Given the description of an element on the screen output the (x, y) to click on. 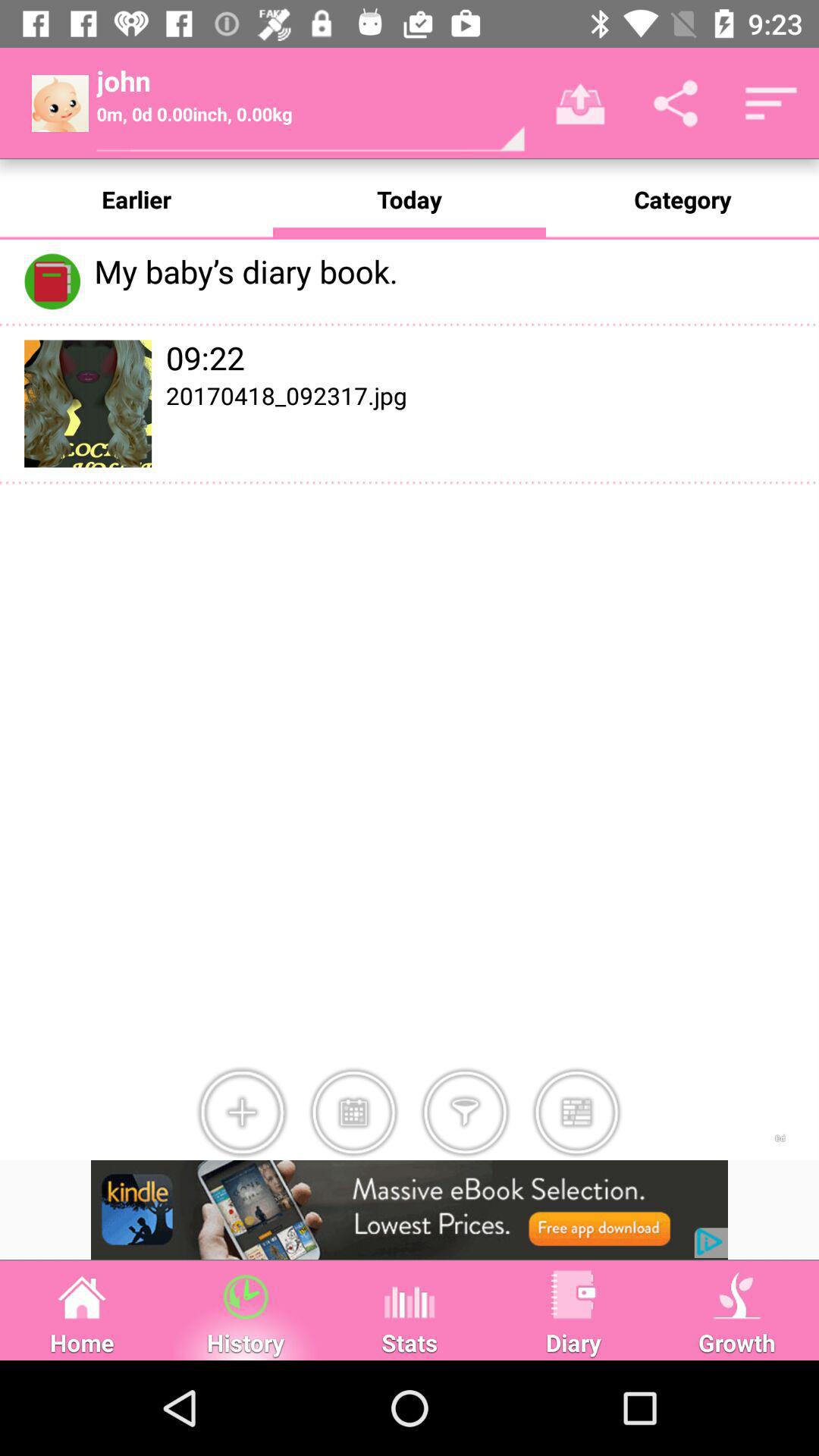
advertisements (409, 1209)
